Given the description of an element on the screen output the (x, y) to click on. 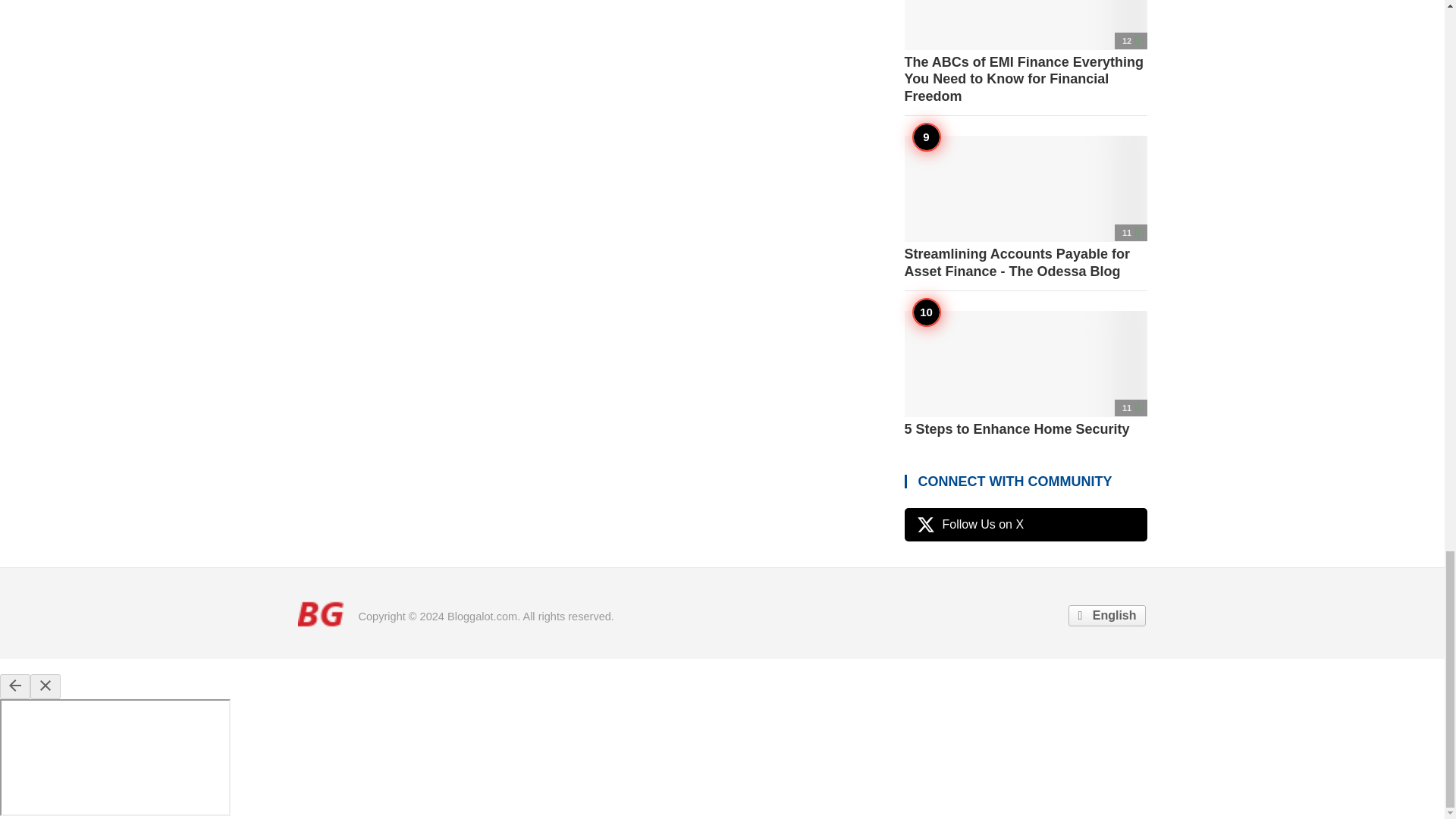
5 Steps to Enhance Home Security (1025, 374)
